Given the description of an element on the screen output the (x, y) to click on. 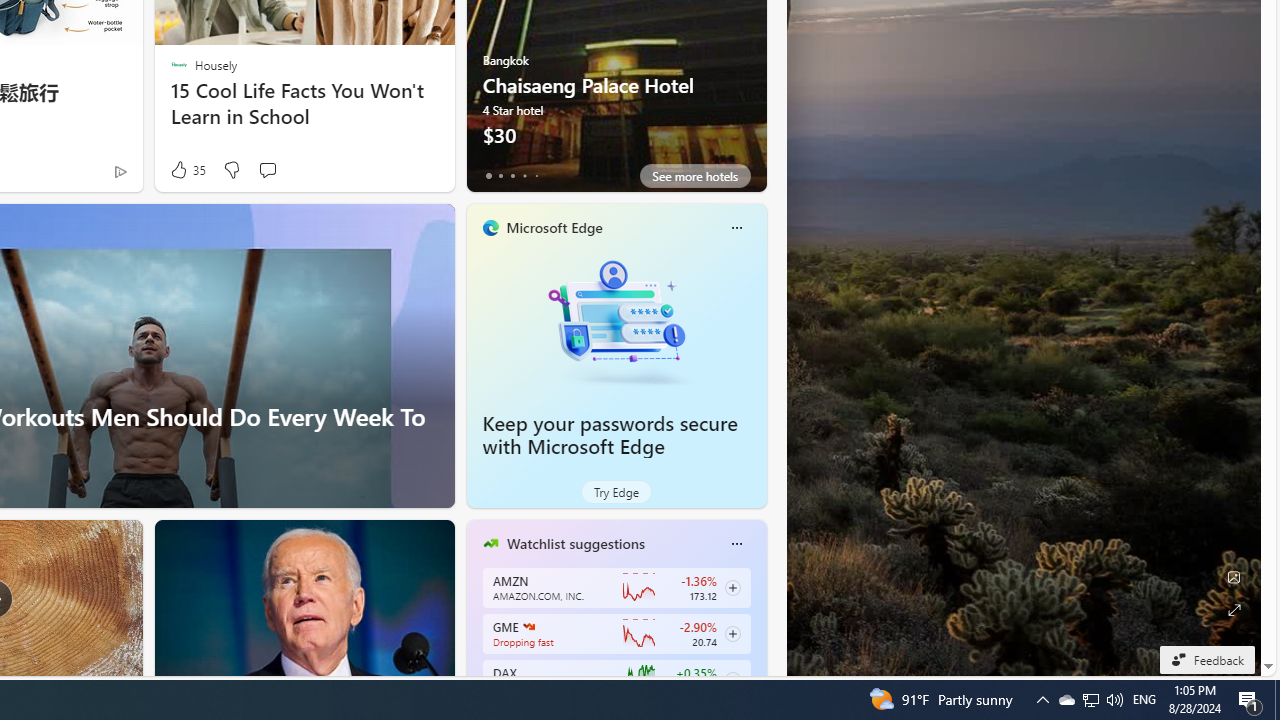
35 Like (186, 170)
Microsoft Edge (553, 227)
GAMESTOP CORP. (528, 626)
tab-1 (500, 175)
Watchlist suggestions (575, 543)
Keep your passwords secure with Microsoft Edge (610, 435)
Try Edge (616, 491)
Expand background (1233, 610)
